Given the description of an element on the screen output the (x, y) to click on. 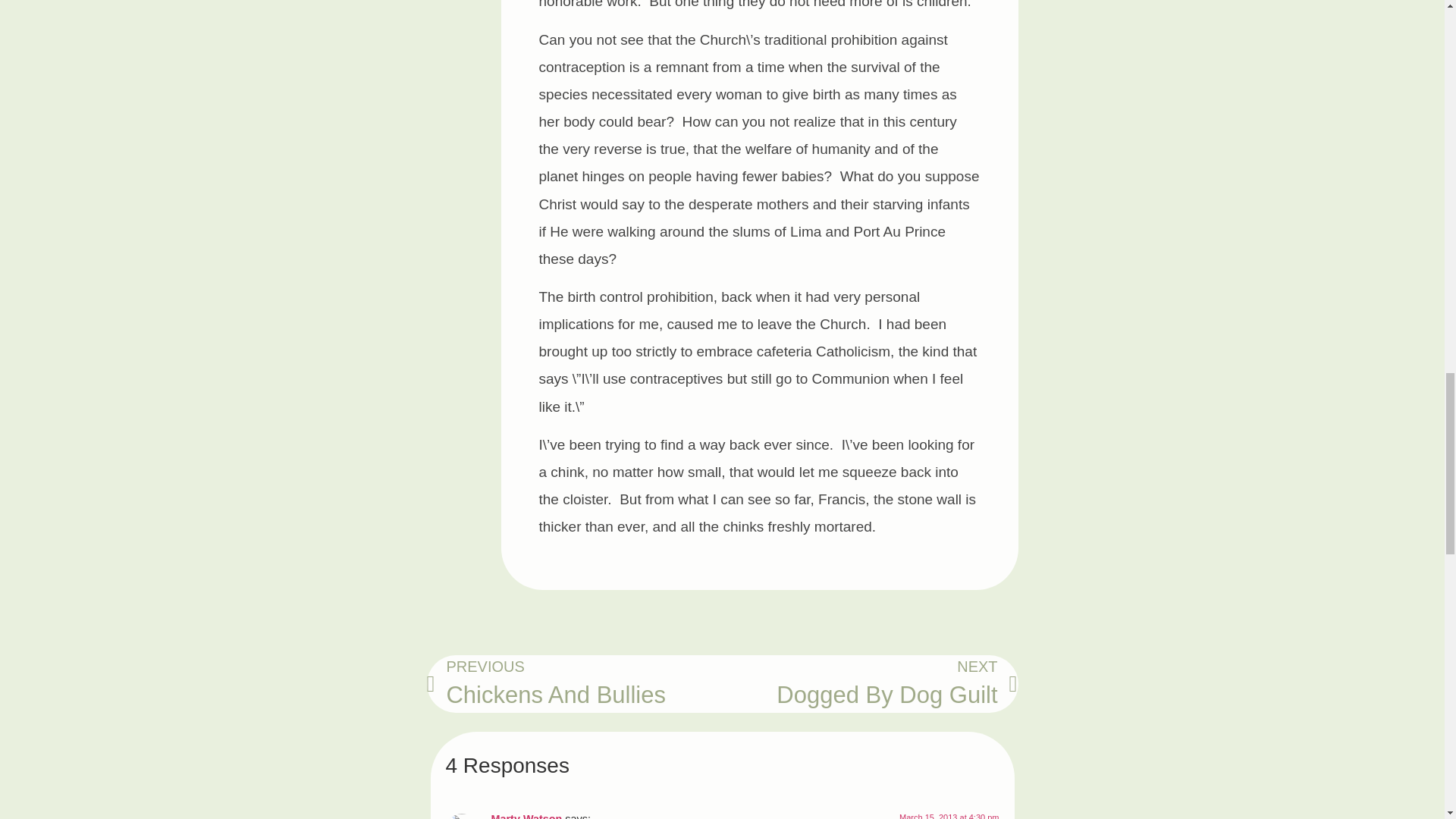
March 15, 2013 at 4:30 pm (948, 816)
Marty Watson (527, 816)
